Given the description of an element on the screen output the (x, y) to click on. 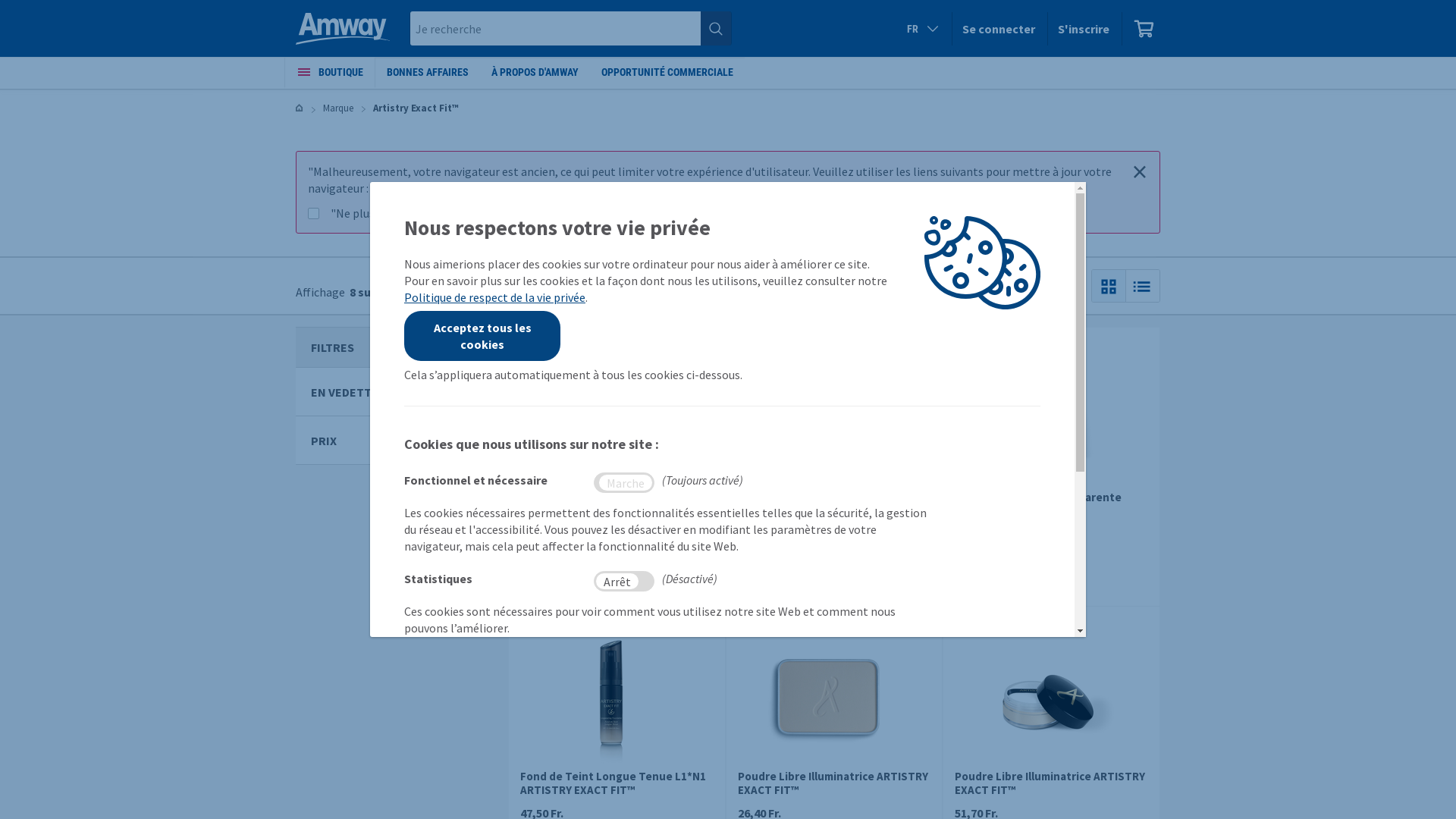
Safari Element type: text (511, 187)
Firefox Element type: text (435, 187)
Amway logo Element type: hover (342, 27)
Se connecter Element type: text (998, 28)
Internet Explorer Element type: text (589, 187)
Opera Element type: text (475, 187)
Chrome Element type: text (391, 187)
S'inscrire Element type: text (1083, 28)
FR Element type: text (922, 28)
BOUTIQUE Element type: text (329, 71)
Acceptez tous les cookies Element type: text (482, 335)
BONNES AFFAIRES Element type: text (427, 71)
Marque Element type: text (338, 107)
